Given the description of an element on the screen output the (x, y) to click on. 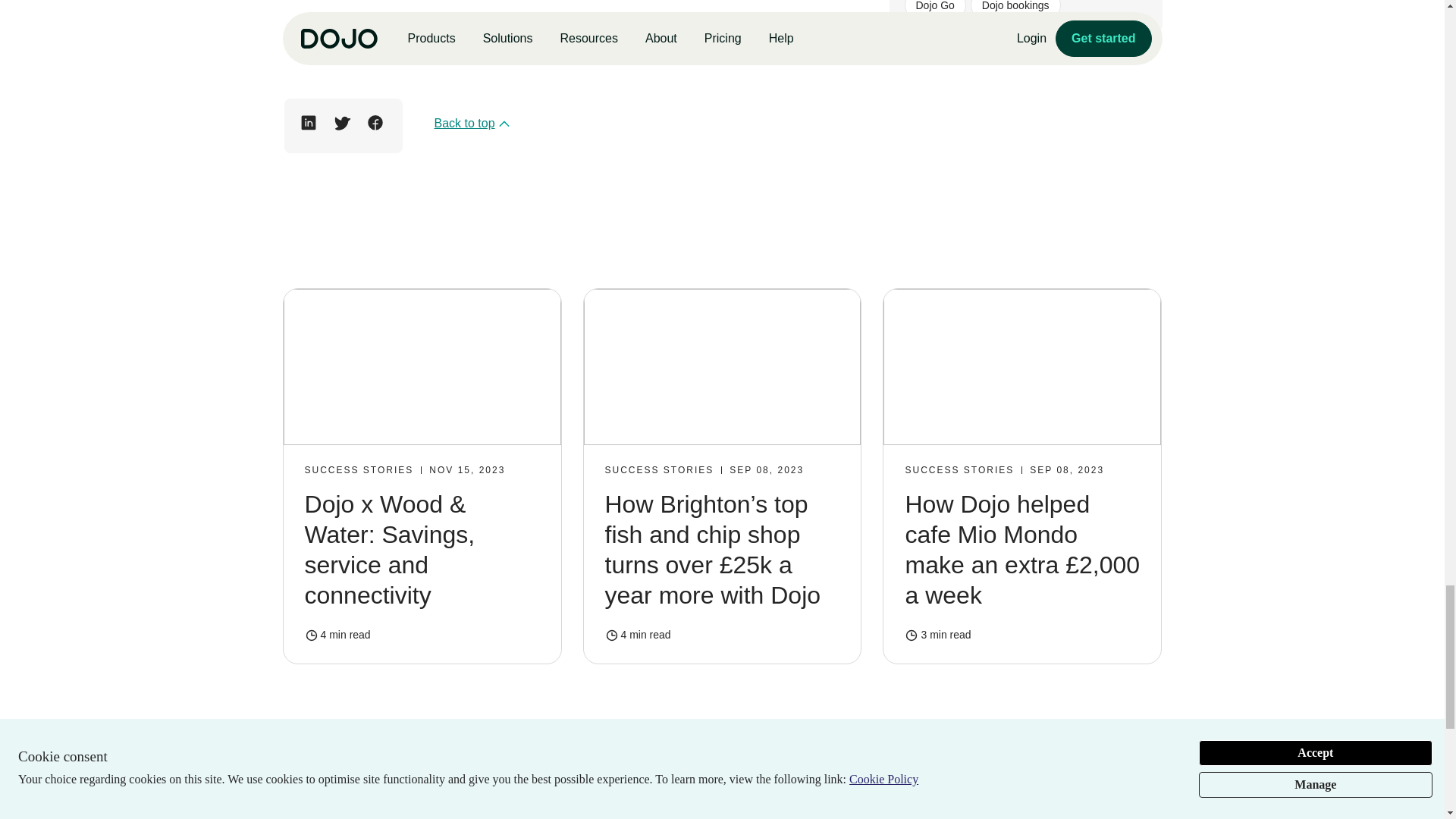
Twitter (341, 122)
LinkedIn (307, 122)
Facebook (375, 122)
